Given the description of an element on the screen output the (x, y) to click on. 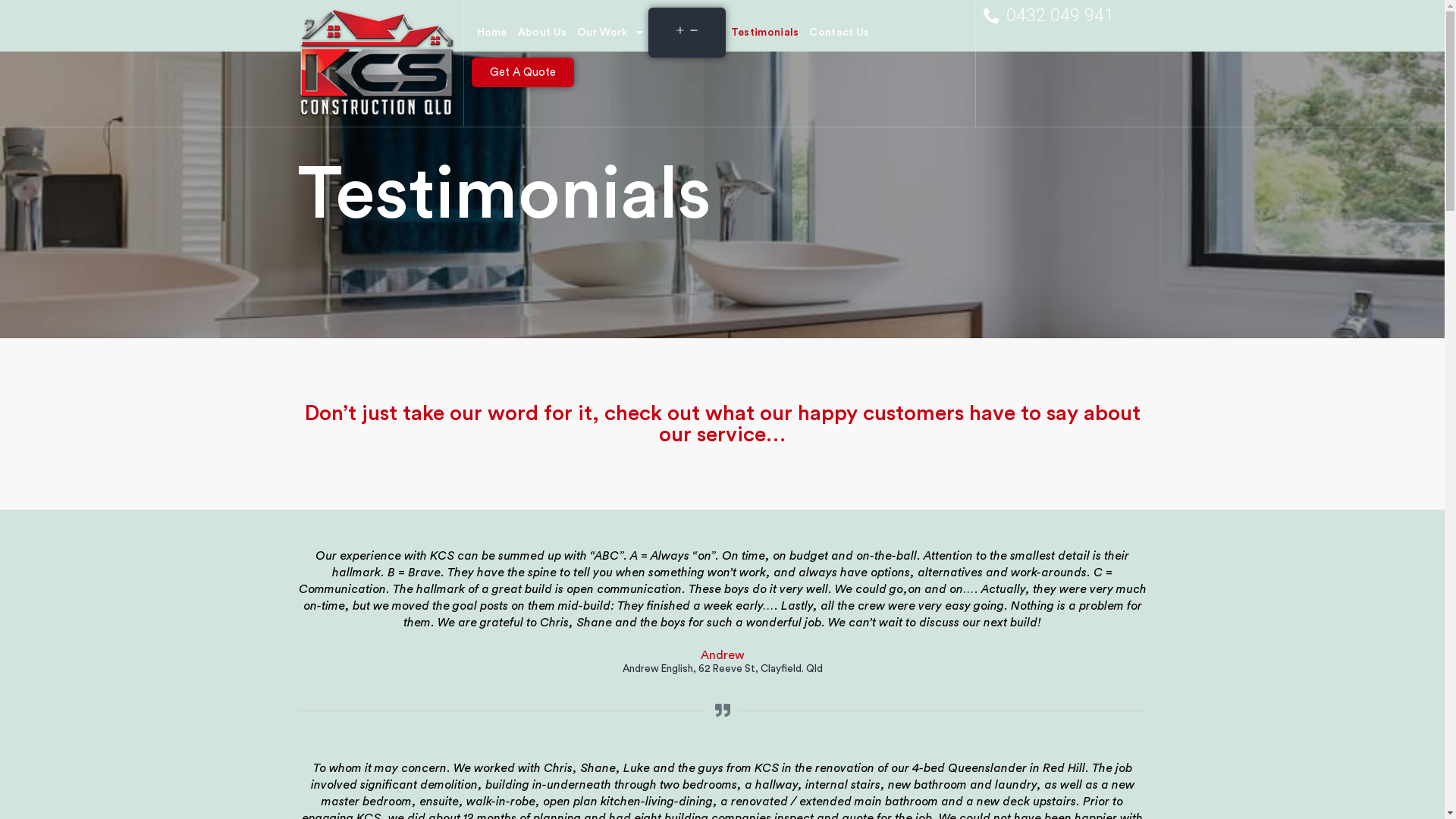
Contact Us Element type: text (838, 32)
About Us Element type: text (541, 32)
Get A Quote Element type: text (522, 72)
Home Element type: text (491, 32)
Our Work Element type: text (609, 32)
Testimonials Element type: text (764, 32)
